Given the description of an element on the screen output the (x, y) to click on. 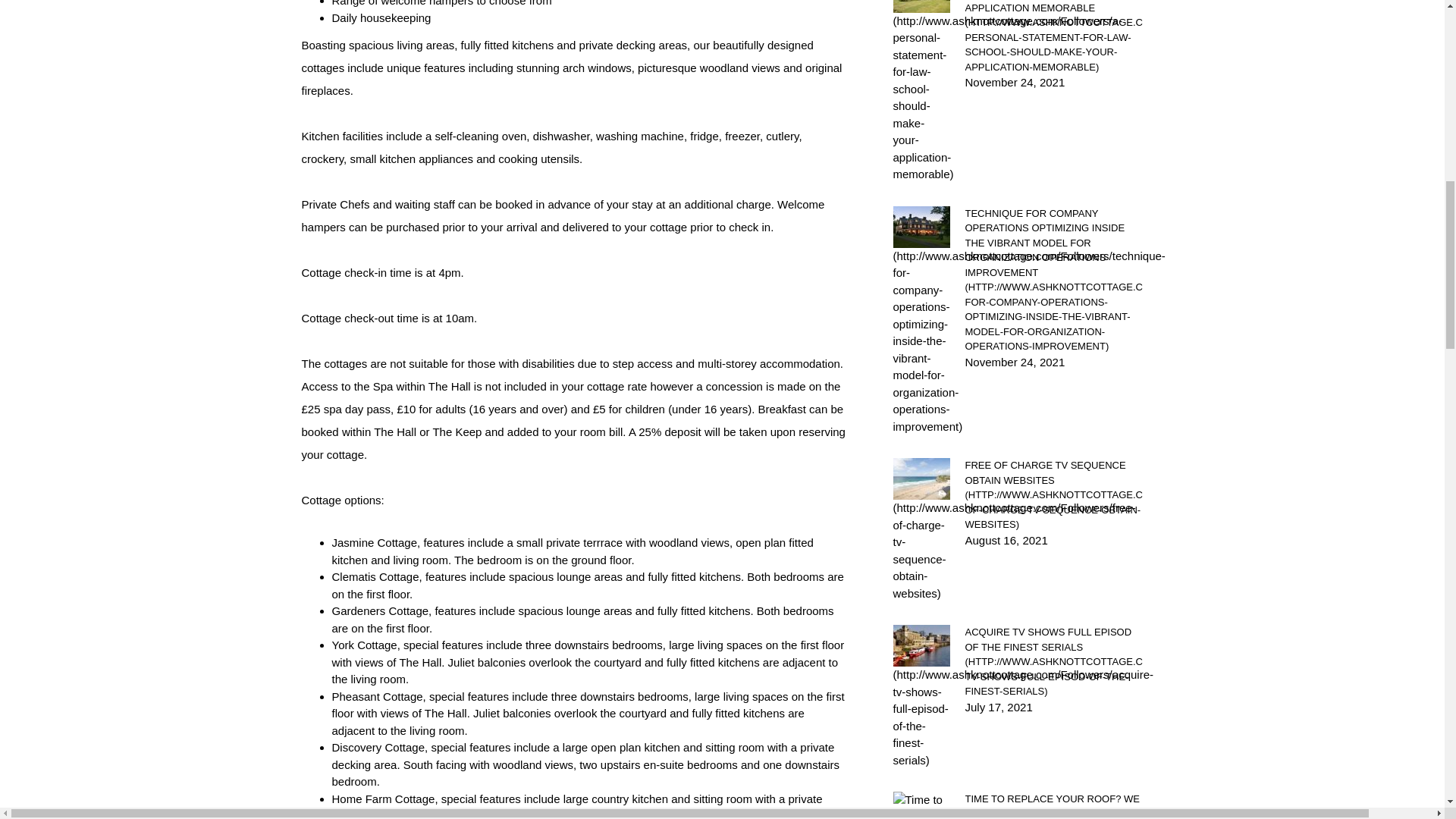
ACQUIRE TV SHOWS FULL EPISOD OF THE FINEST SERIALS (1052, 661)
FREE OF CHARGE TV SEQUENCE OBTAIN WEBSITES (1052, 494)
